Given the description of an element on the screen output the (x, y) to click on. 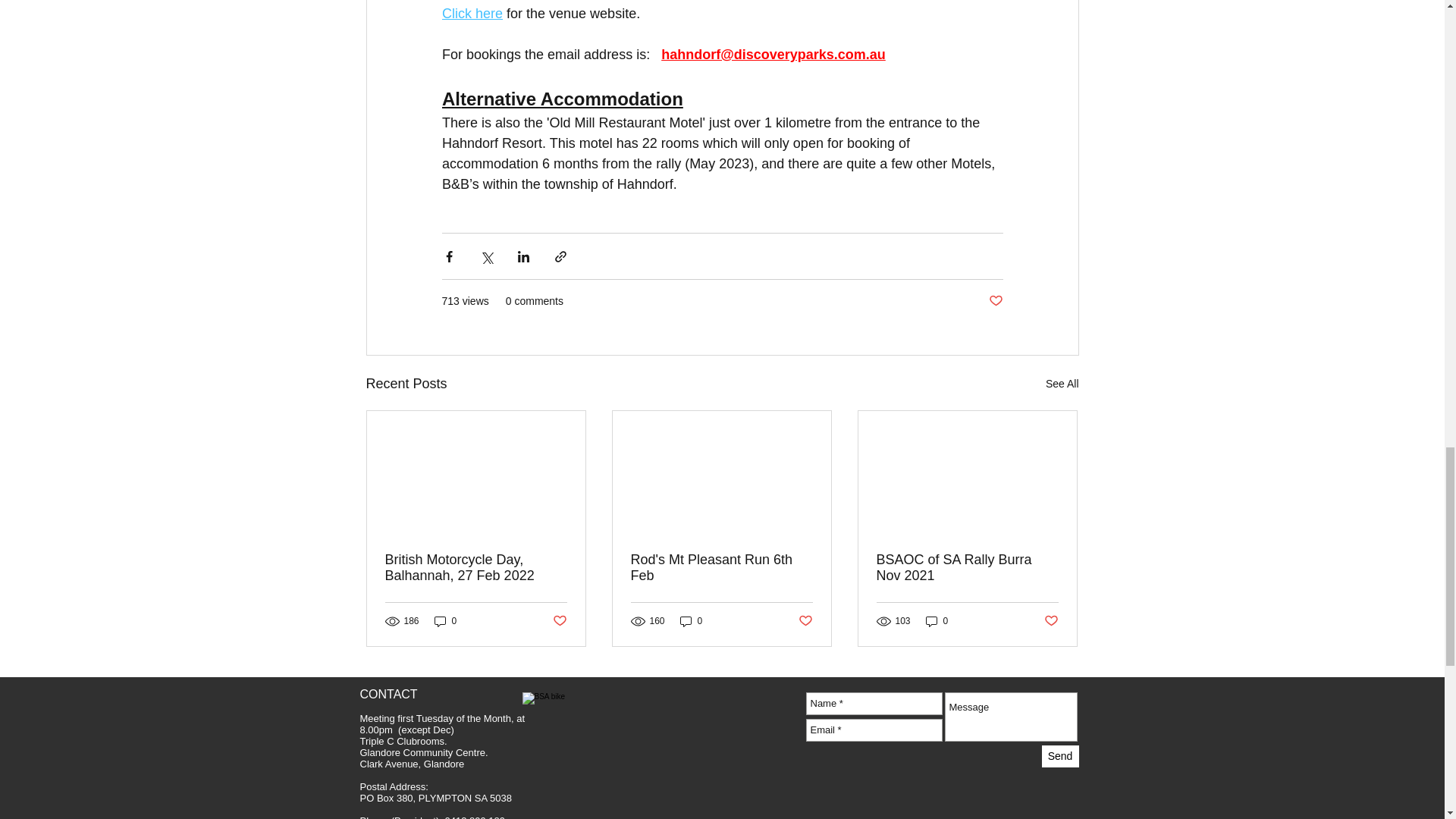
Send (1060, 756)
British Motorcycle Day, Balhannah, 27 Feb 2022 (476, 567)
Post not marked as liked (804, 620)
BSAOC of SA Rally Burra Nov 2021 (967, 567)
0 (445, 621)
0 (937, 621)
Post not marked as liked (1050, 620)
Post not marked as liked (995, 301)
0 (691, 621)
Rod's Mt Pleasant Run 6th Feb (721, 567)
Click here (471, 13)
See All (1061, 383)
Post not marked as liked (558, 620)
